Given the description of an element on the screen output the (x, y) to click on. 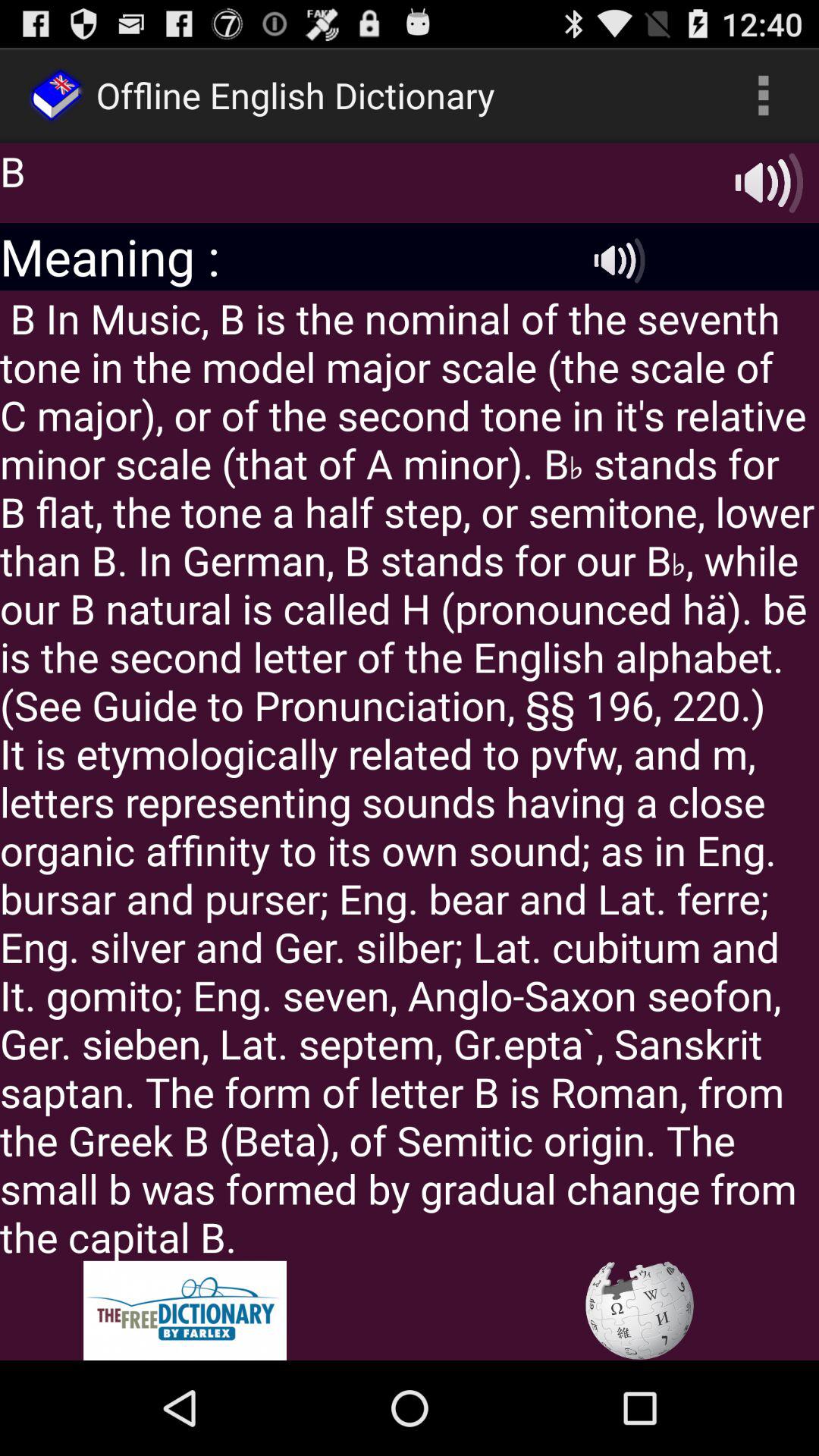
choose app to the right of the offline english dictionary item (763, 95)
